Given the description of an element on the screen output the (x, y) to click on. 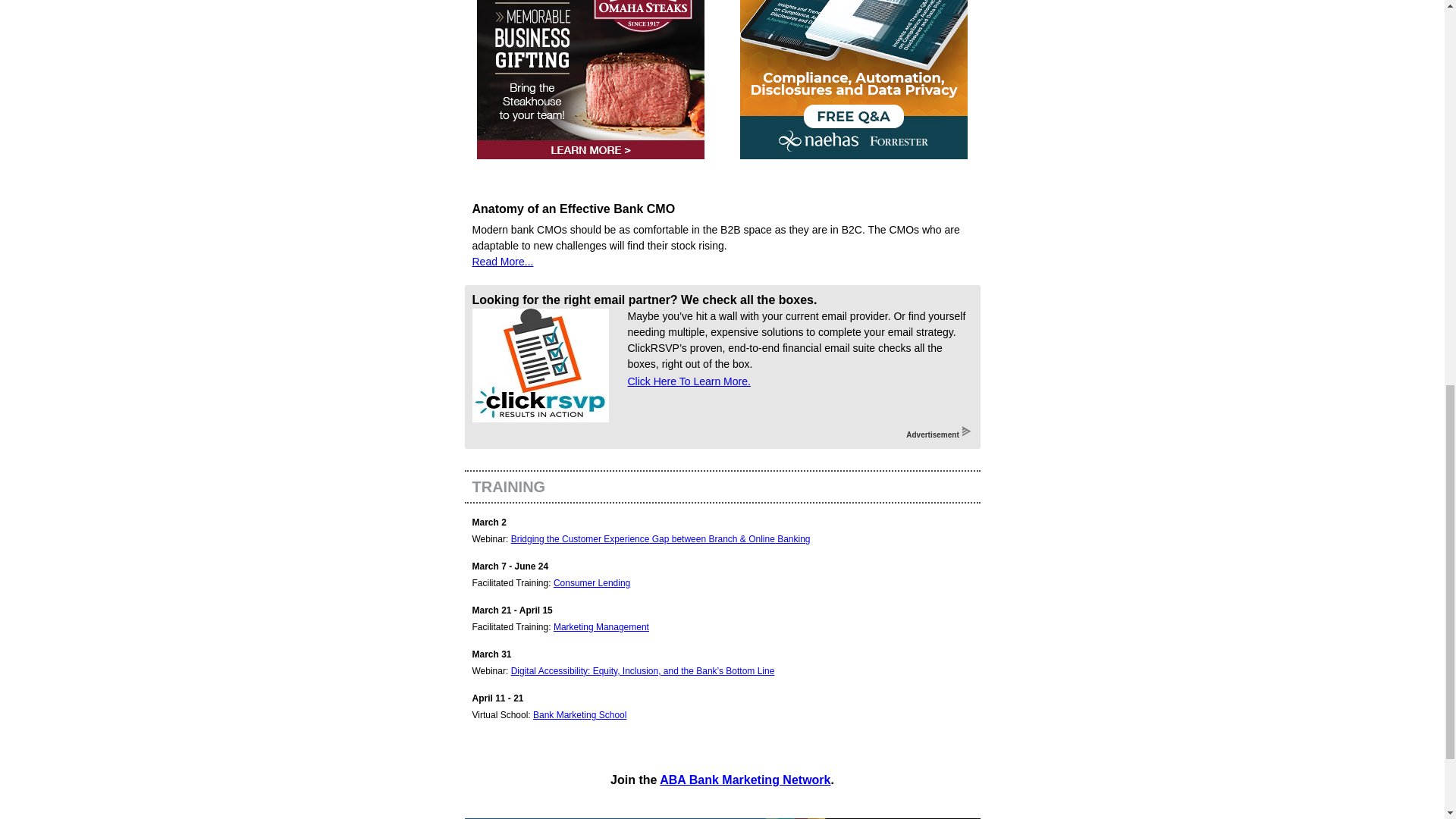
Anatomy of an Effective Bank CMO (573, 208)
Marketing Management (601, 626)
ABA Bank Marketing Network (744, 779)
Looking for the right email partner? We check all the boxes. (643, 299)
Read More... (501, 261)
Bank Marketing School (579, 715)
Click Here To Learn More. (689, 381)
Consumer Lending (591, 583)
